Given the description of an element on the screen output the (x, y) to click on. 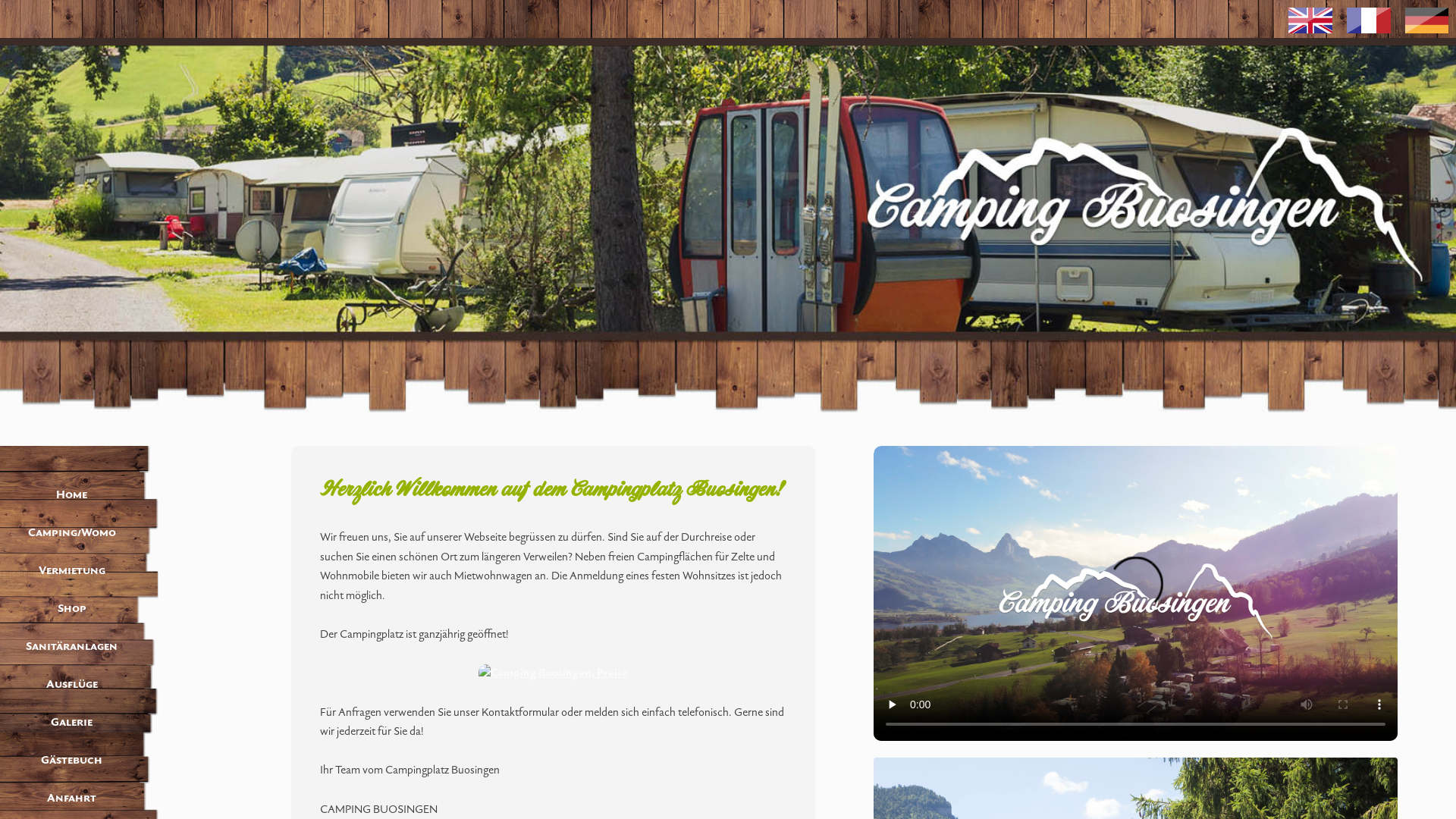
deutsch Element type: hover (1427, 20)
Home Element type: text (71, 495)
Galerie Element type: text (71, 722)
Vermietung Element type: text (71, 570)
Shop Element type: text (71, 608)
Camping/Womo Element type: text (71, 532)
Anfahrt Element type: text (71, 798)
englisch Element type: hover (1310, 20)
